Given the description of an element on the screen output the (x, y) to click on. 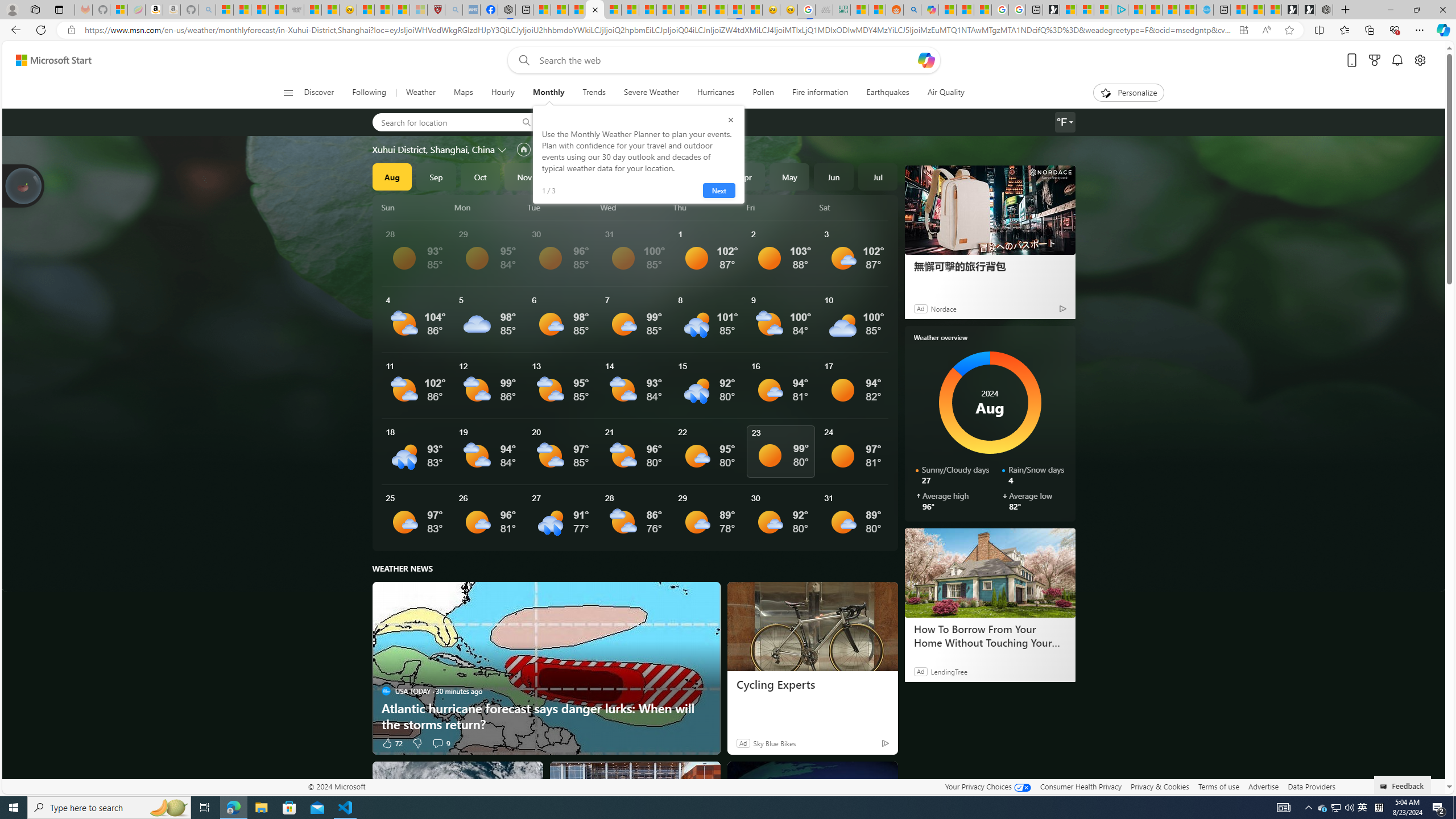
Monthly (547, 92)
LendingTree (948, 671)
Enter your search term (726, 59)
Feb (657, 176)
Combat Siege (294, 9)
